Given the description of an element on the screen output the (x, y) to click on. 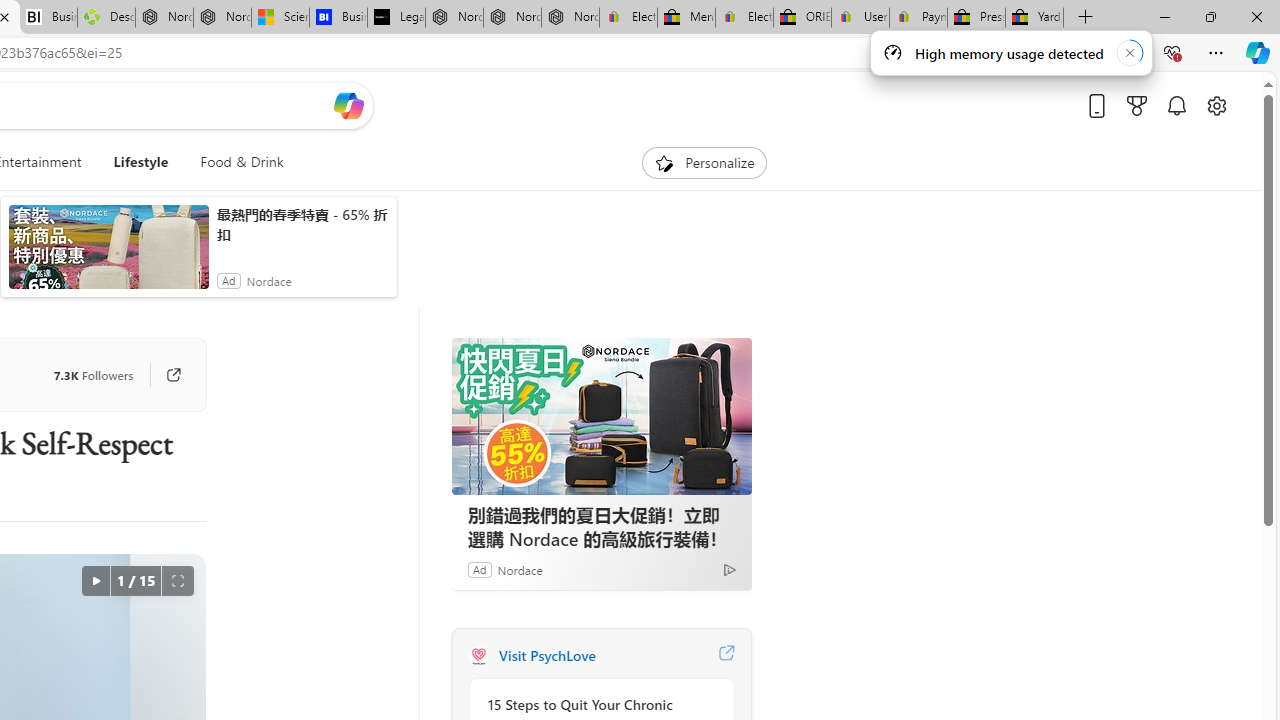
Yard, Garden & Outdoor Living (1034, 17)
Nordace - Summer Adventures 2024 (164, 17)
Personalize (703, 162)
